Given the description of an element on the screen output the (x, y) to click on. 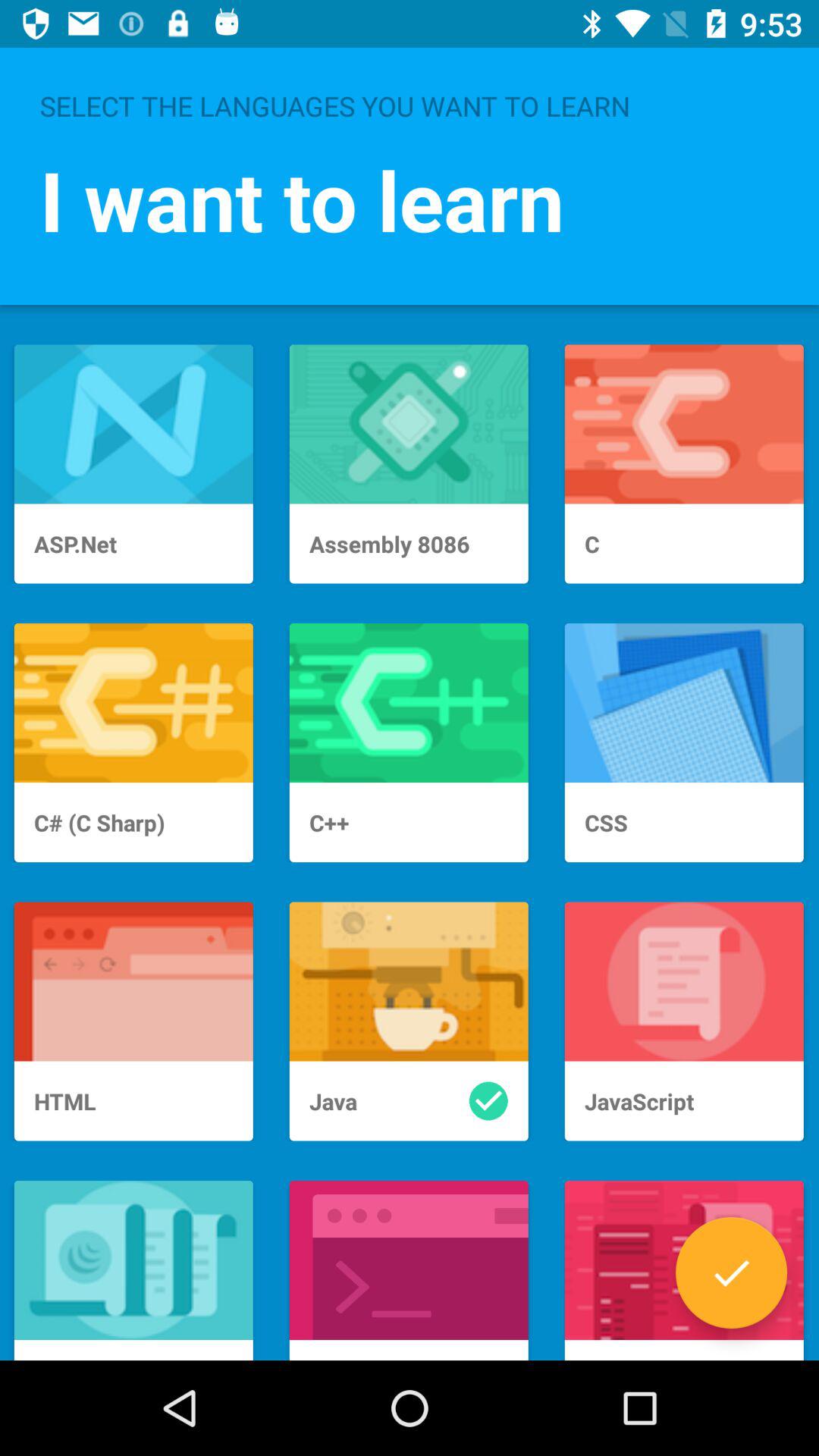
accept option (731, 1272)
